Given the description of an element on the screen output the (x, y) to click on. 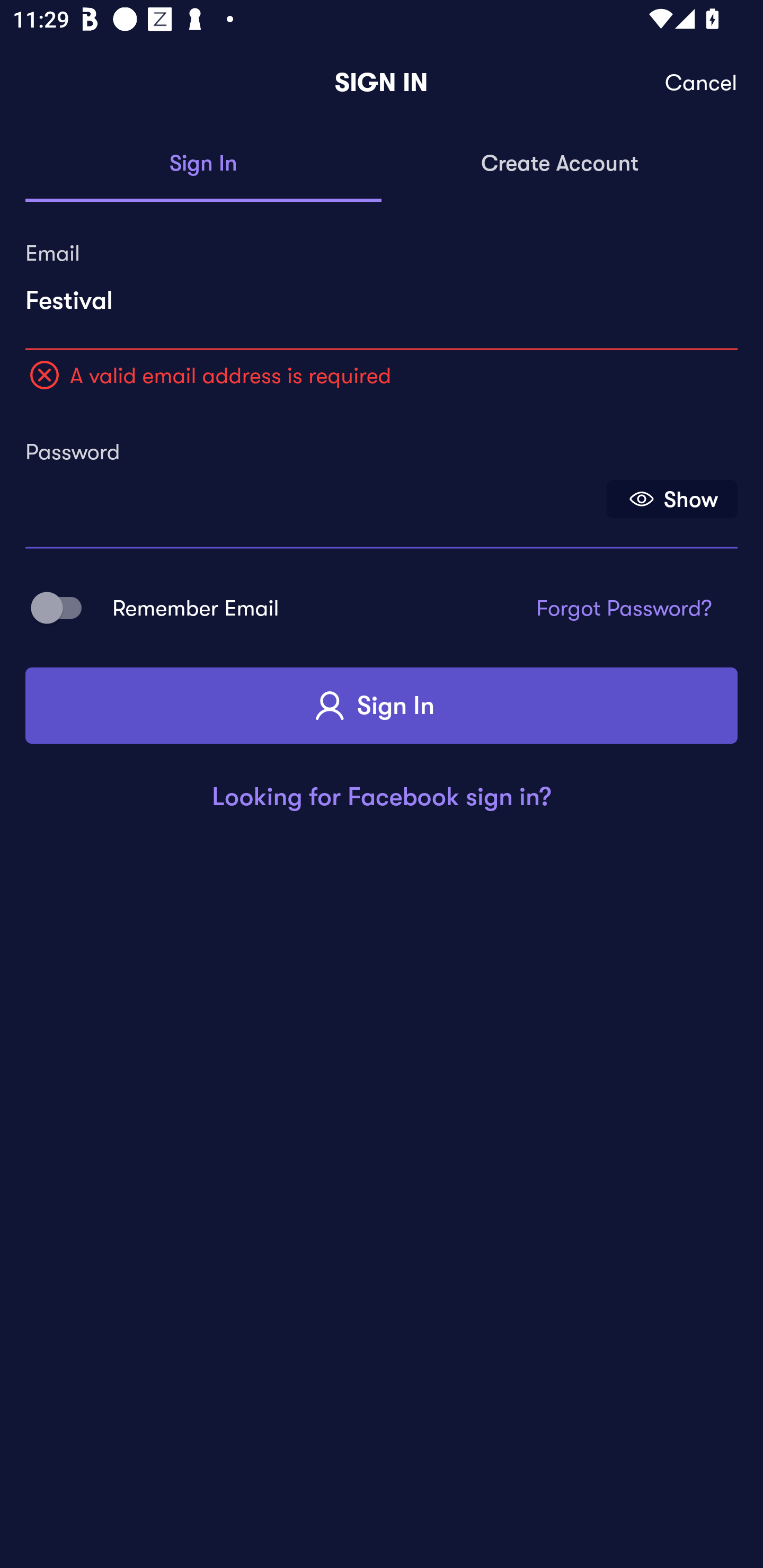
Cancel (701, 82)
Sign In (203, 164)
Create Account (559, 164)
Password (314, 493)
Show Password Show (671, 498)
Remember Email (62, 607)
Sign In (381, 705)
